Given the description of an element on the screen output the (x, y) to click on. 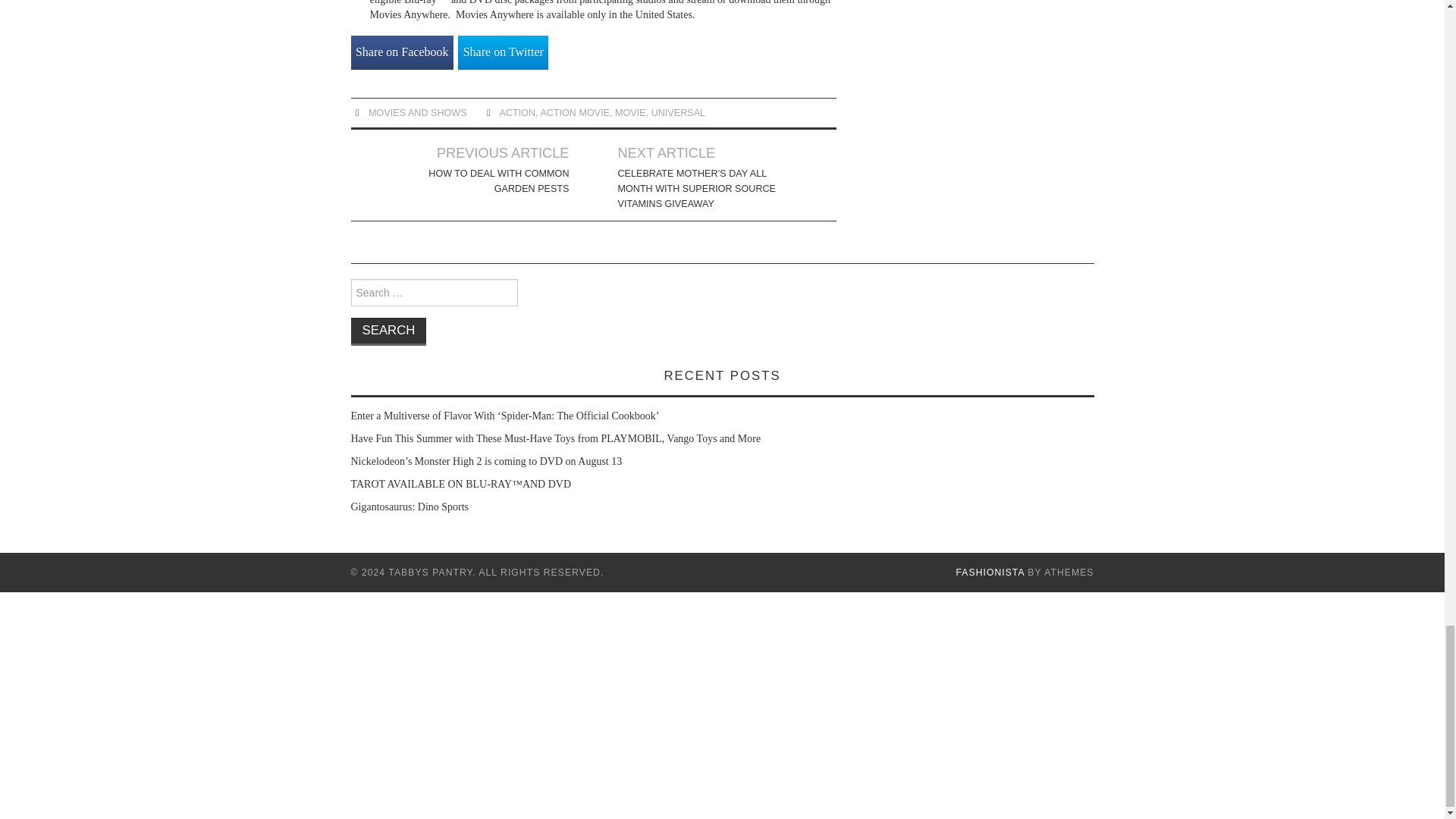
Search (388, 331)
ACTION MOVIE (575, 112)
ACTION (517, 112)
HOW TO DEAL WITH COMMON GARDEN PESTS (483, 181)
MOVIE (630, 112)
Share on Twitter (503, 52)
UNIVERSAL (677, 112)
MOVIES AND SHOWS (416, 112)
Share on Facebook (401, 52)
Search (388, 331)
Search for: (433, 292)
